Given the description of an element on the screen output the (x, y) to click on. 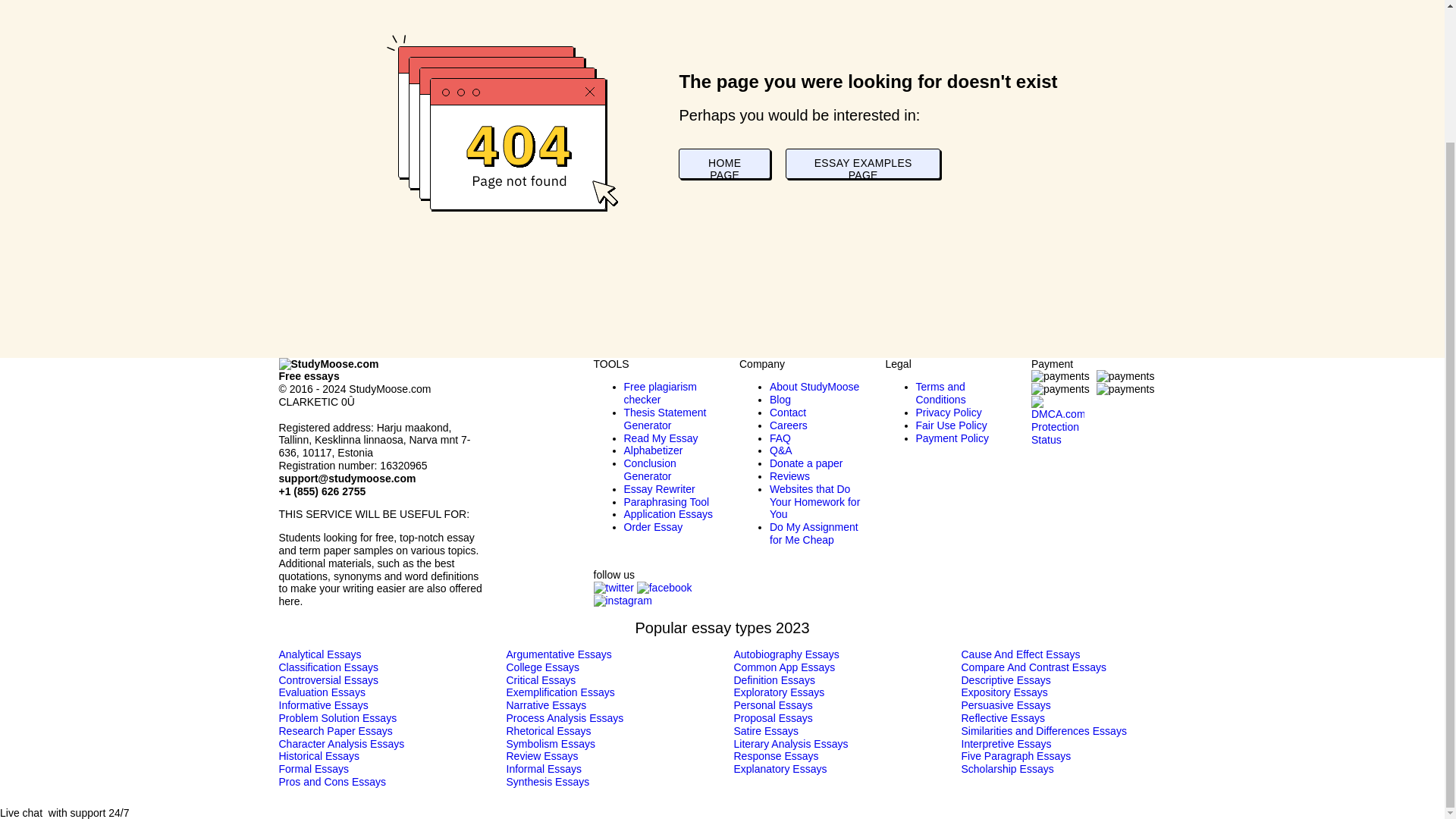
HOME PAGE (724, 163)
About StudyMoose (814, 386)
Websites that Do Your Homework for You (815, 501)
Careers (789, 425)
Conclusion Generator (649, 469)
Application Essays (668, 513)
Reviews (789, 476)
Read My Essay (660, 438)
Order Essay (652, 526)
Donate a paper (806, 463)
